Given the description of an element on the screen output the (x, y) to click on. 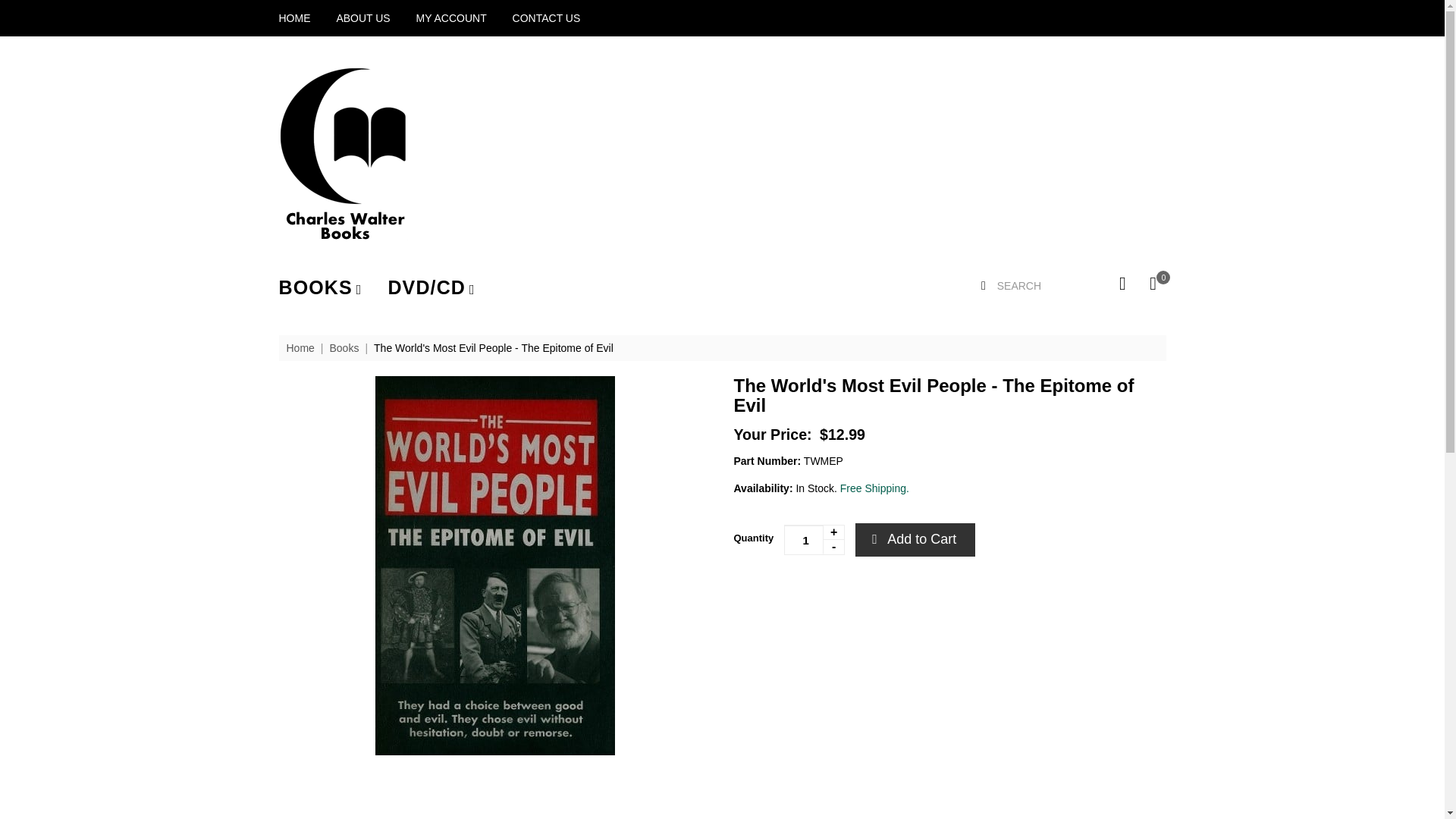
CONTACT US (546, 18)
BOOKS (320, 287)
MY ACCOUNT (451, 18)
1 (814, 539)
0 (1153, 282)
Books (343, 347)
ABOUT US (363, 18)
HOME (295, 18)
The World's Most Evil People - The Epitome of Evil (493, 347)
Home (300, 347)
